Given the description of an element on the screen output the (x, y) to click on. 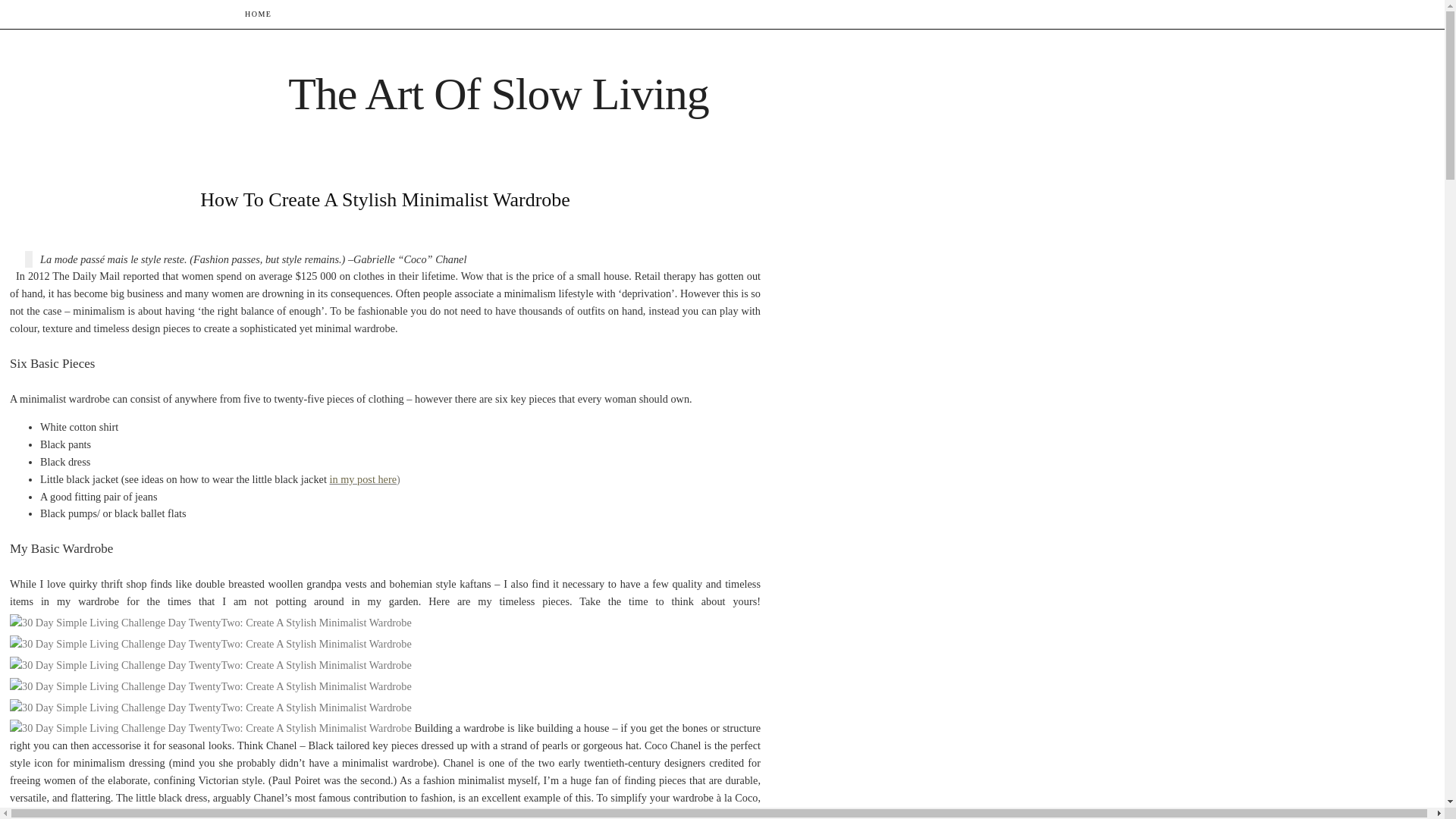
The Art Of Slow Living (498, 93)
HOME (258, 14)
How To Create A Stylish Minimalist Wardrobe (385, 199)
